Given the description of an element on the screen output the (x, y) to click on. 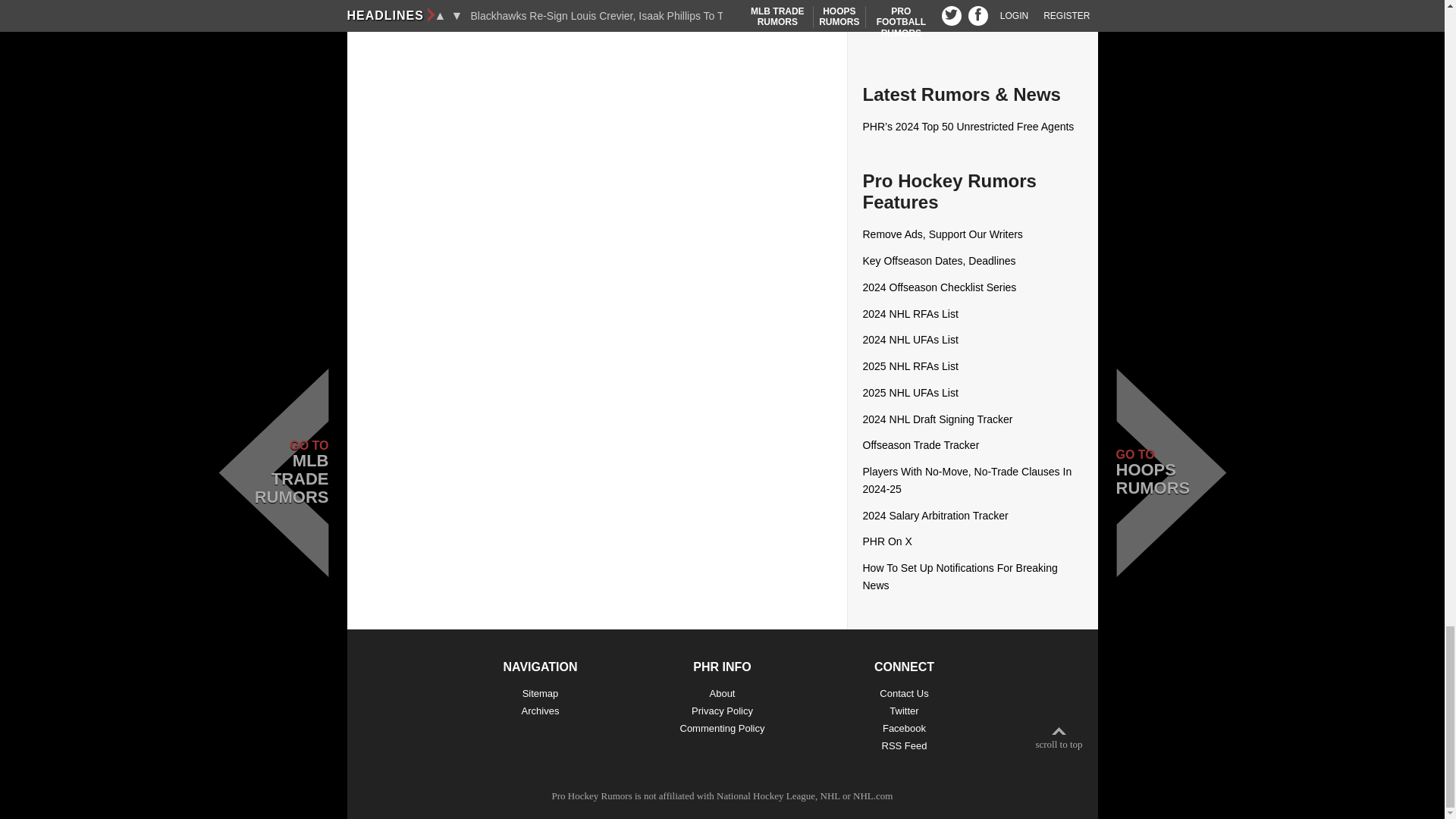
Pro Hockey Rumors (591, 795)
